Given the description of an element on the screen output the (x, y) to click on. 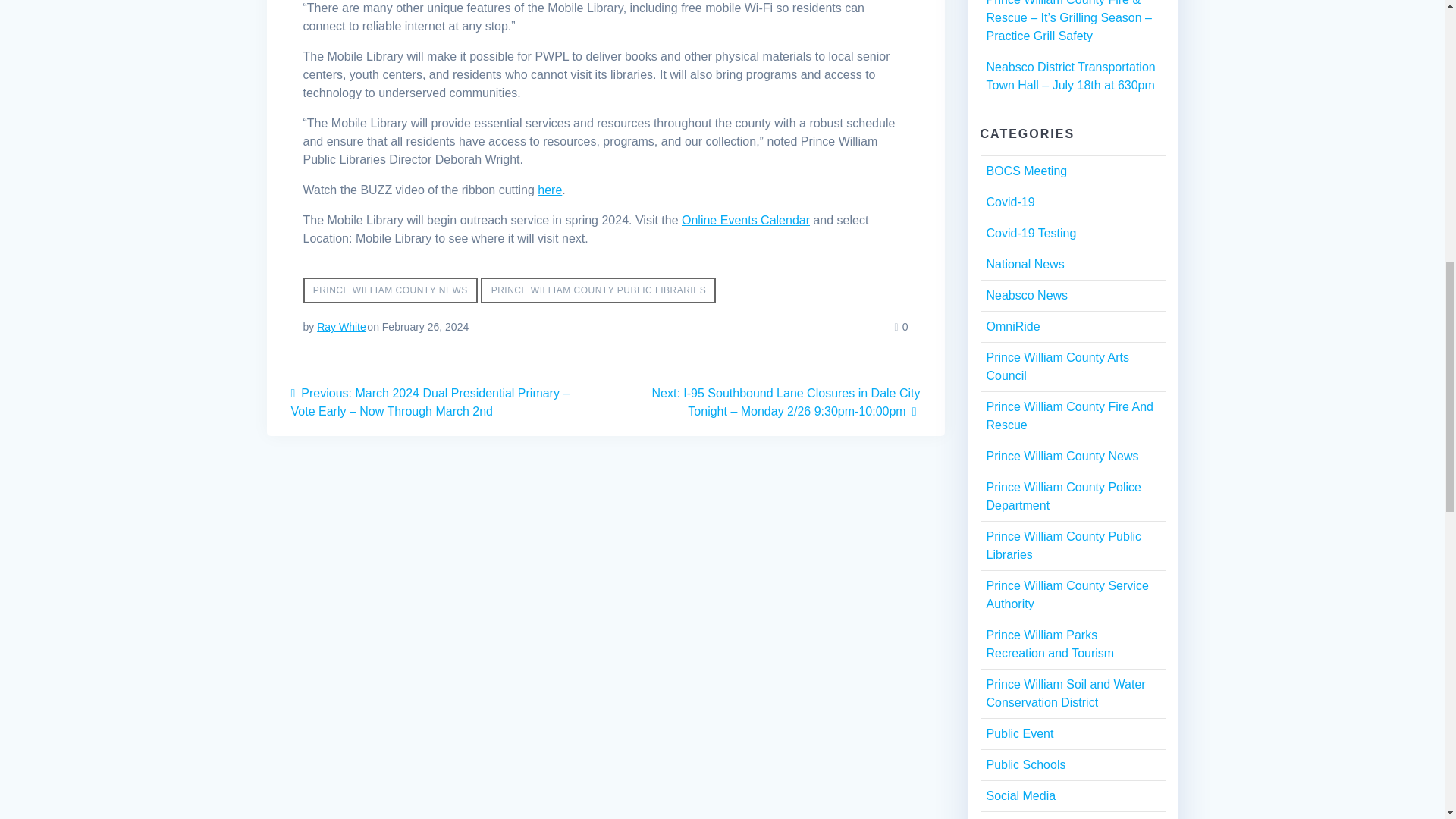
Posts by Ray White (341, 326)
